Given the description of an element on the screen output the (x, y) to click on. 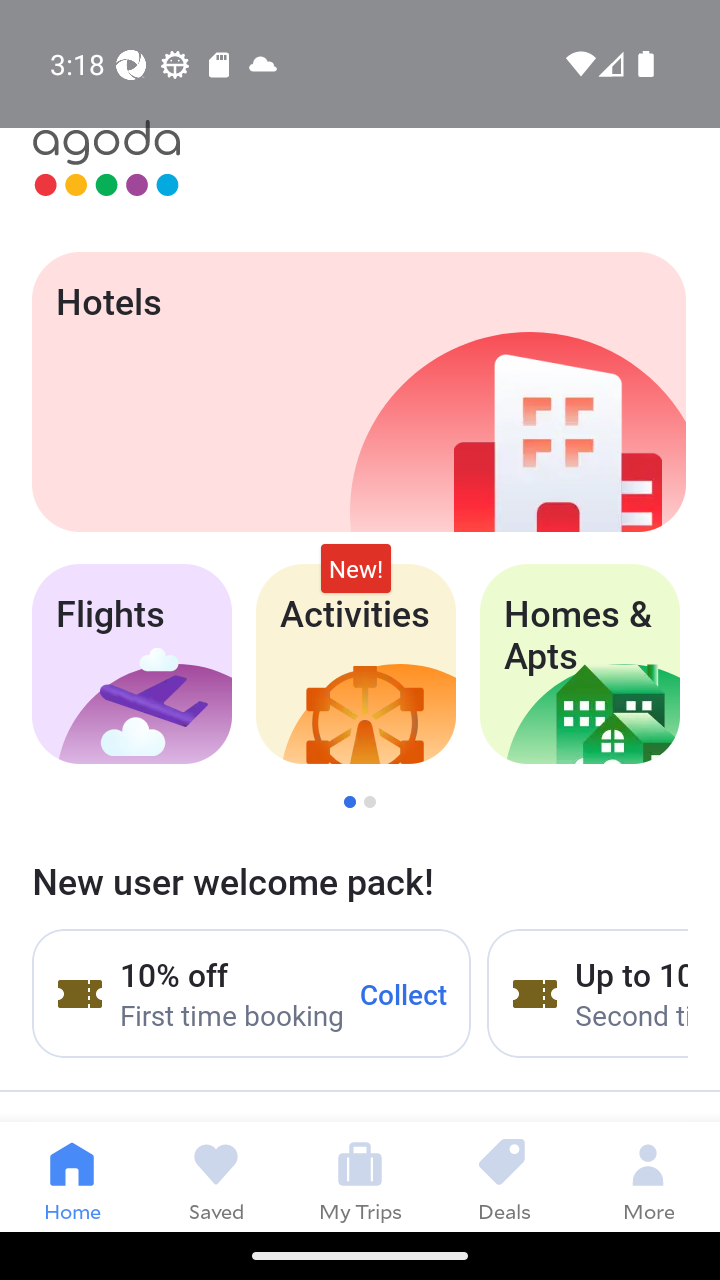
Hotels (358, 392)
New! (355, 568)
Flights (131, 664)
Activities (355, 664)
Homes & Apts (579, 664)
Collect (403, 993)
Home (72, 1176)
Saved (216, 1176)
My Trips (360, 1176)
Deals (504, 1176)
More (648, 1176)
